Given the description of an element on the screen output the (x, y) to click on. 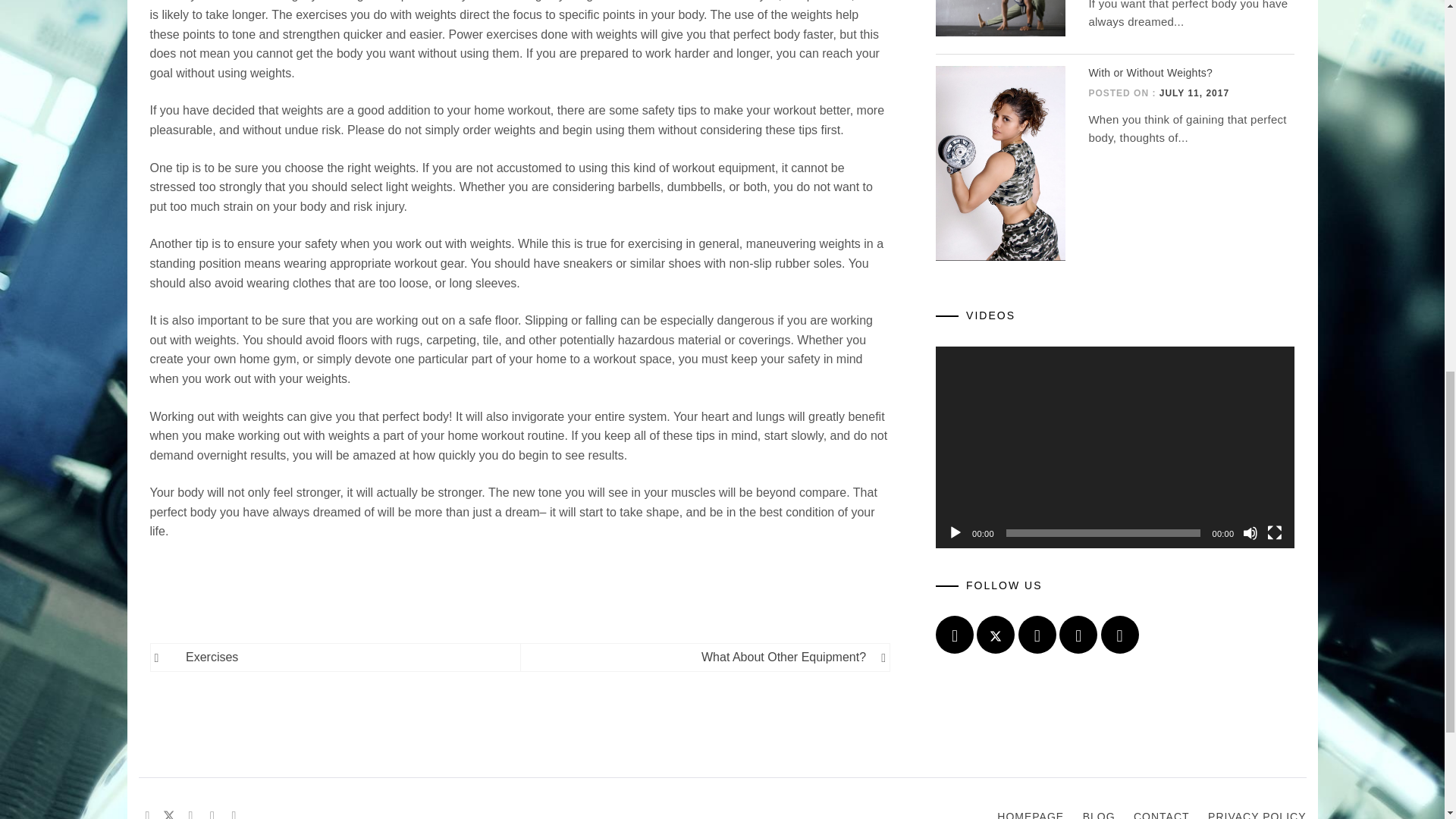
What About Other Equipment? (700, 657)
JULY 11, 2017 (1193, 92)
Exercises (345, 657)
Mute (1250, 532)
Fullscreen (1274, 532)
Play (954, 532)
With or Without Weights? (1149, 72)
